Given the description of an element on the screen output the (x, y) to click on. 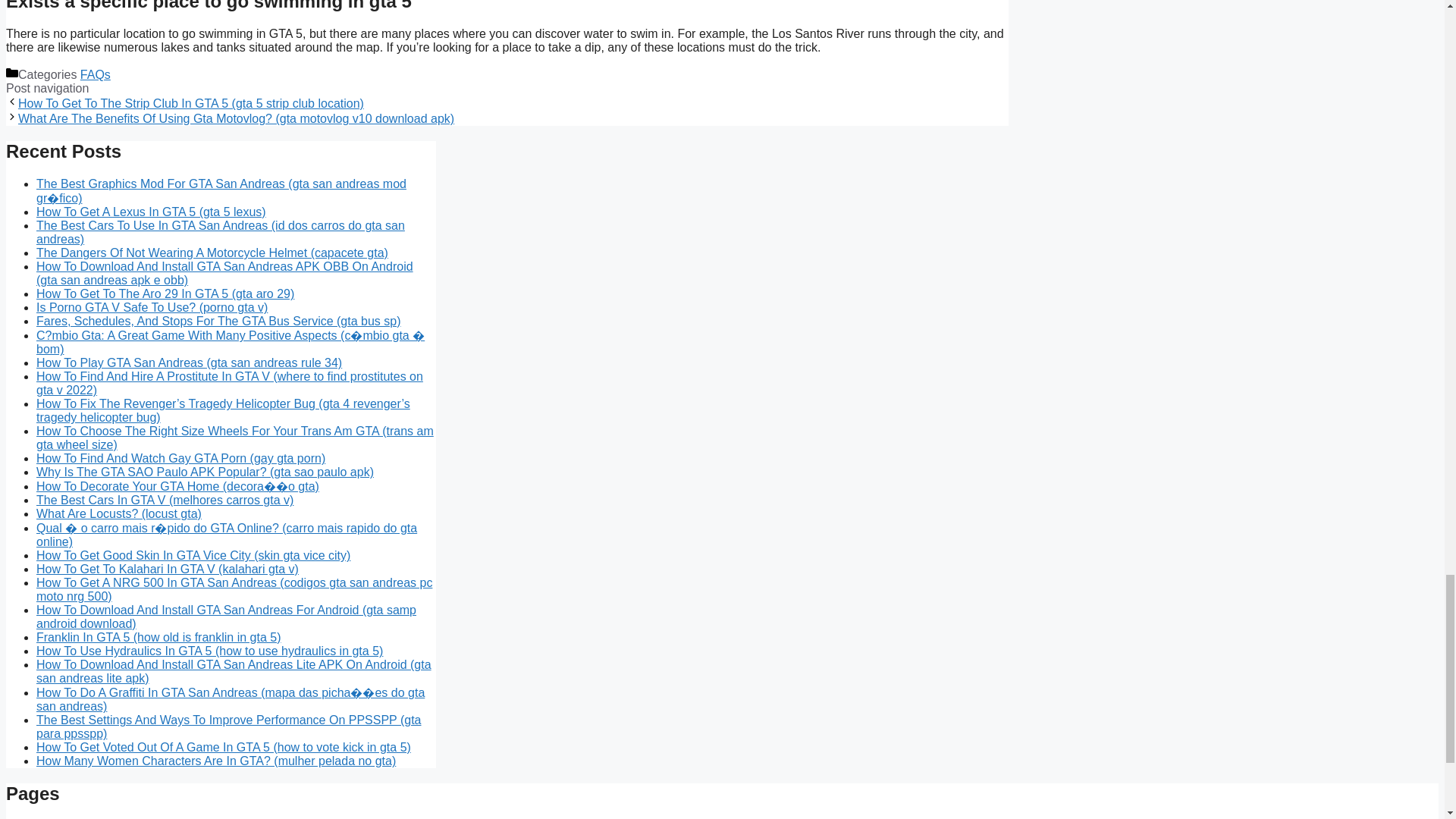
Next (235, 118)
FAQs (95, 74)
Previous (190, 103)
